Given the description of an element on the screen output the (x, y) to click on. 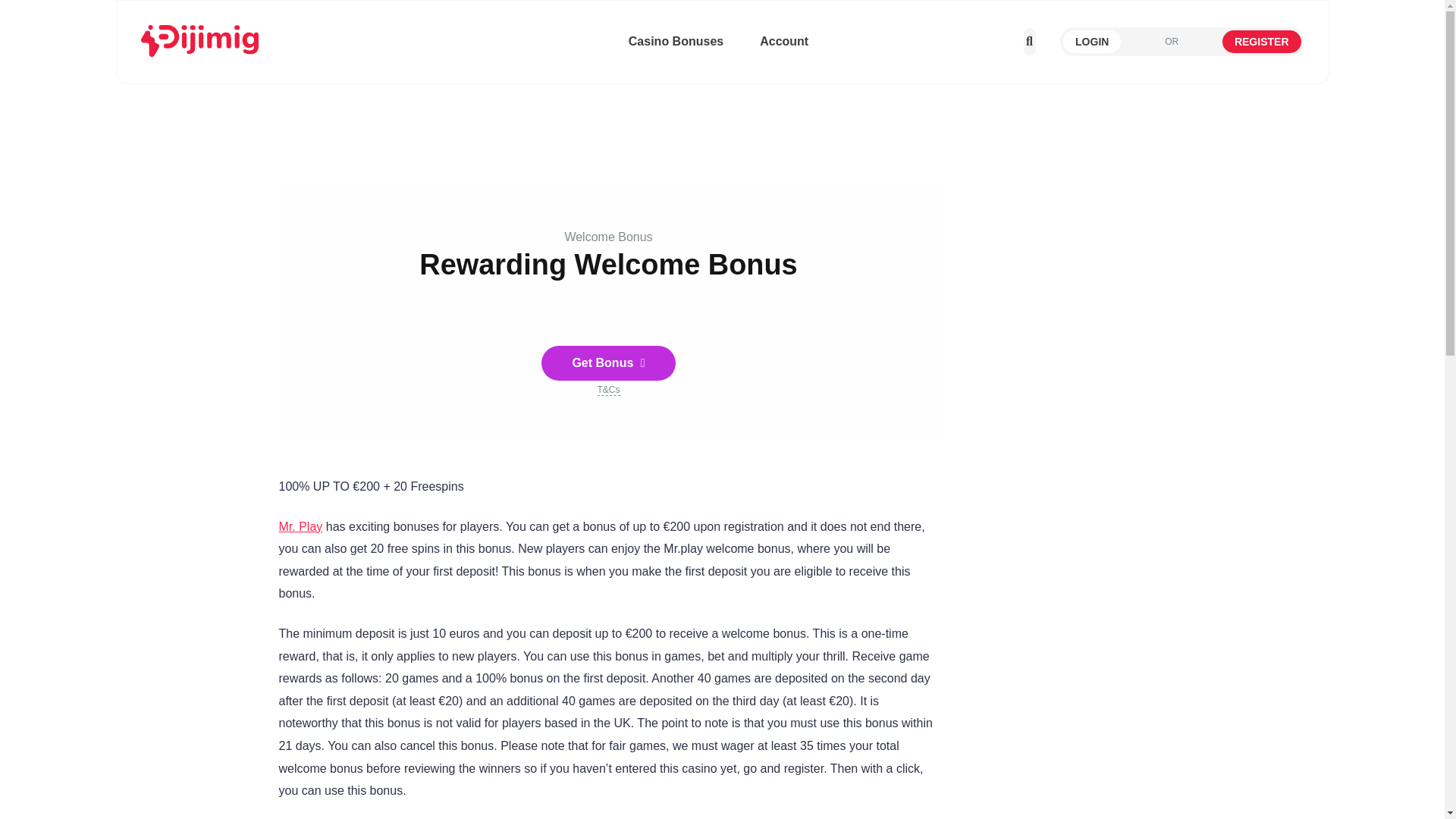
Mr. Play (301, 526)
Mr.Play (301, 526)
Welcome Bonus (608, 236)
REGISTER (1262, 41)
Casino Bonuses (675, 41)
Get Bonus (608, 362)
Welcome Bonus (608, 236)
Account (787, 41)
LOGIN (1091, 41)
Get Bonus (608, 362)
